Given the description of an element on the screen output the (x, y) to click on. 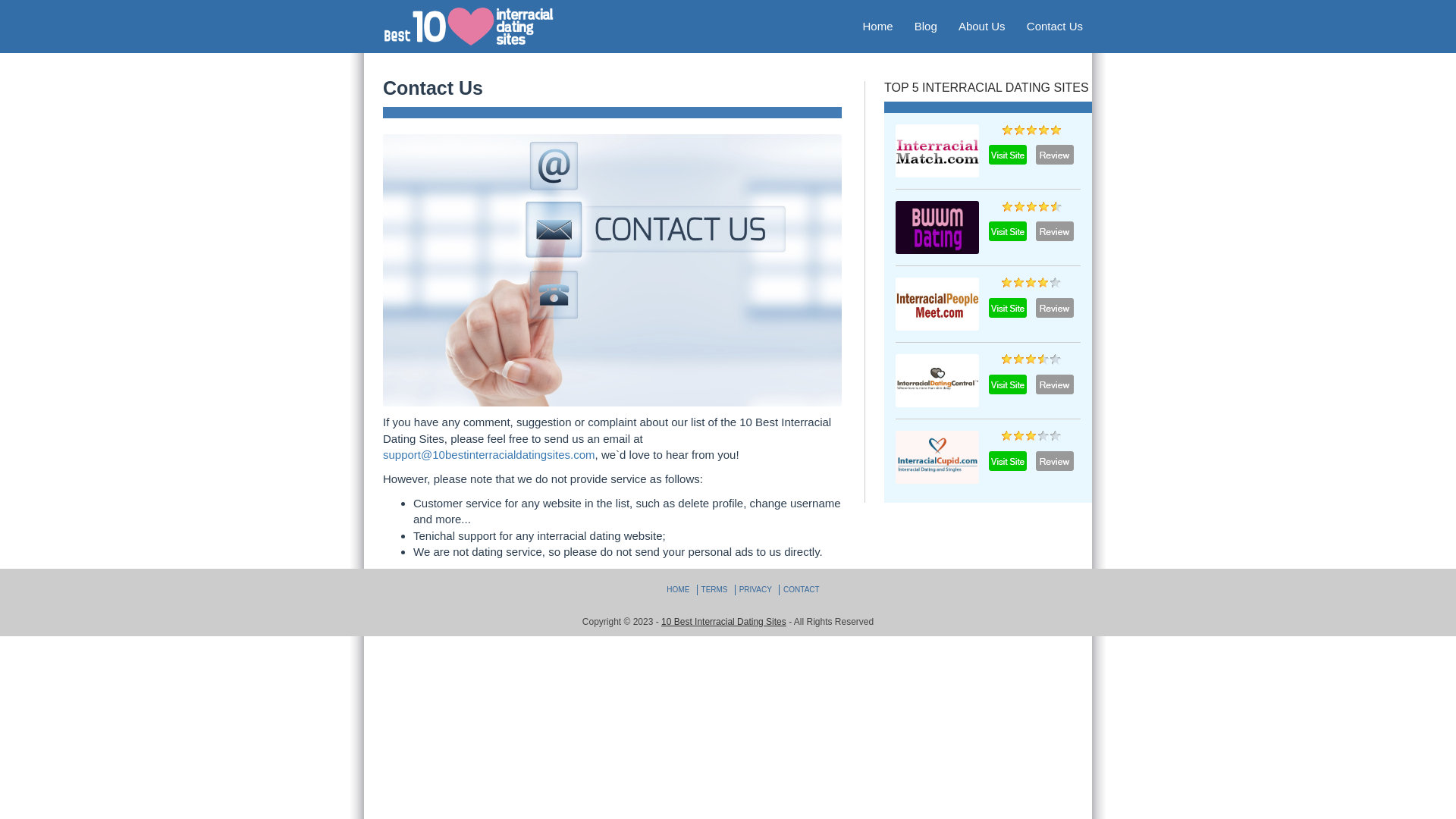
About Us Element type: text (981, 26)
10 Best Interracial Dating Sites Element type: text (723, 621)
PRIVACY Element type: text (755, 589)
Contact Us Element type: text (1054, 26)
HOME Element type: text (677, 589)
Home Element type: text (877, 26)
CONTACT Element type: text (801, 589)
TERMS Element type: text (714, 589)
Blog Element type: text (925, 26)
support@10bestinterracialdatingsites.com Element type: text (488, 454)
